Given the description of an element on the screen output the (x, y) to click on. 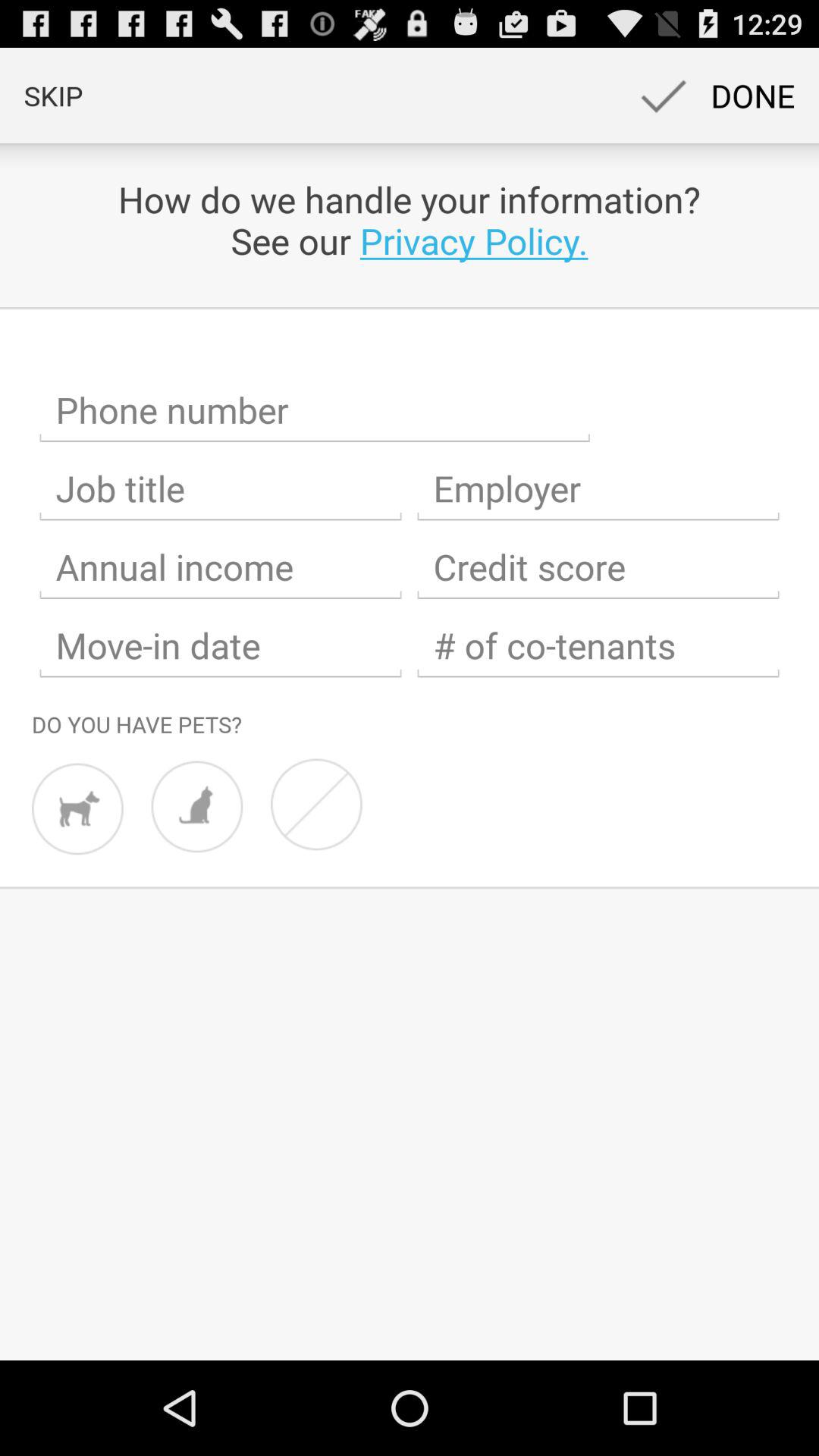
indicate no pets (316, 804)
